Given the description of an element on the screen output the (x, y) to click on. 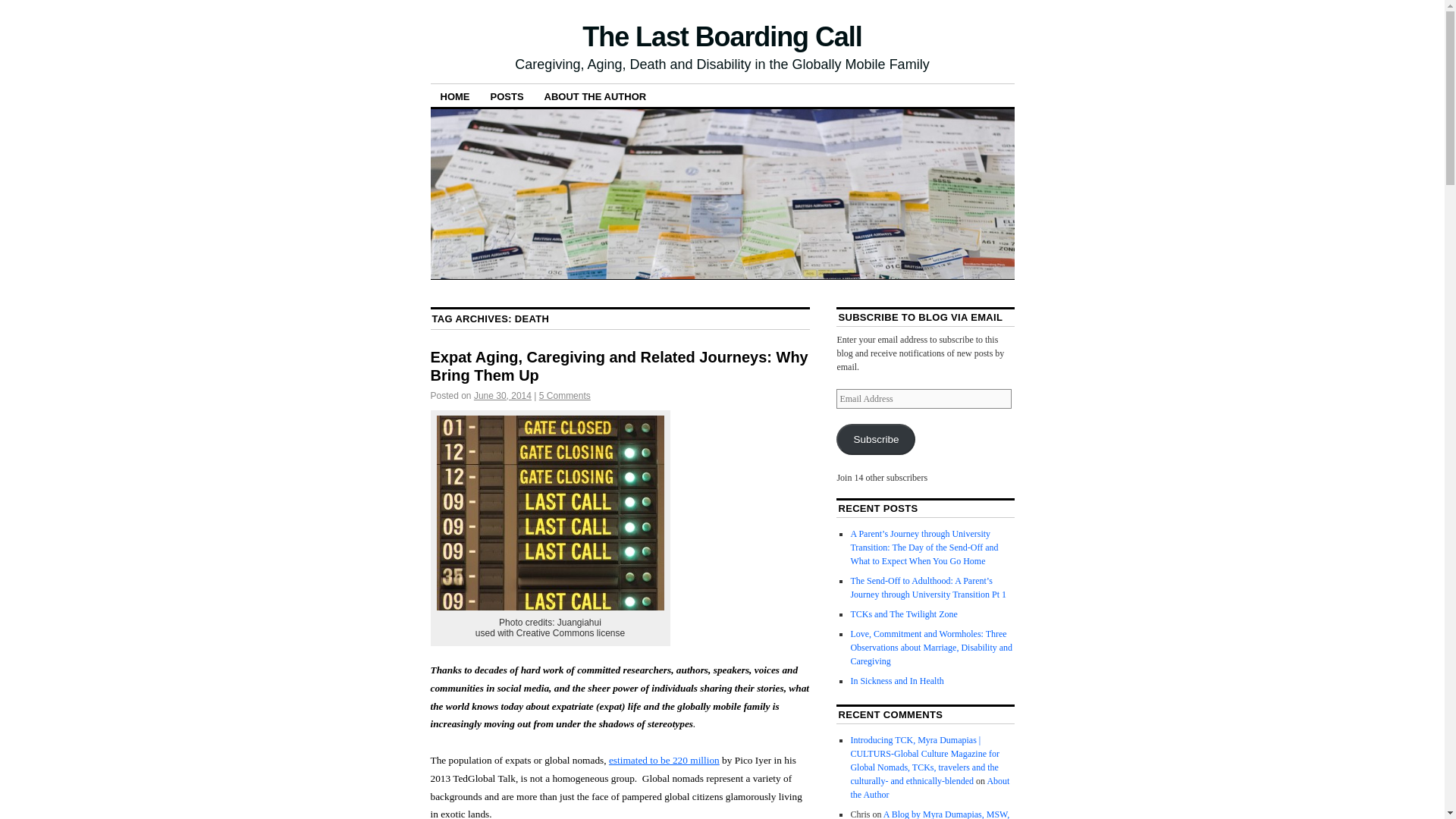
POSTS (507, 96)
June 30, 2014 (502, 395)
Blog posts (507, 96)
About the writer (595, 96)
2:09 pm (502, 395)
The Last Boarding Call (721, 36)
The Last Boarding Call (721, 36)
estimated to be 220 million (663, 759)
ABOUT THE AUTHOR (595, 96)
